Given the description of an element on the screen output the (x, y) to click on. 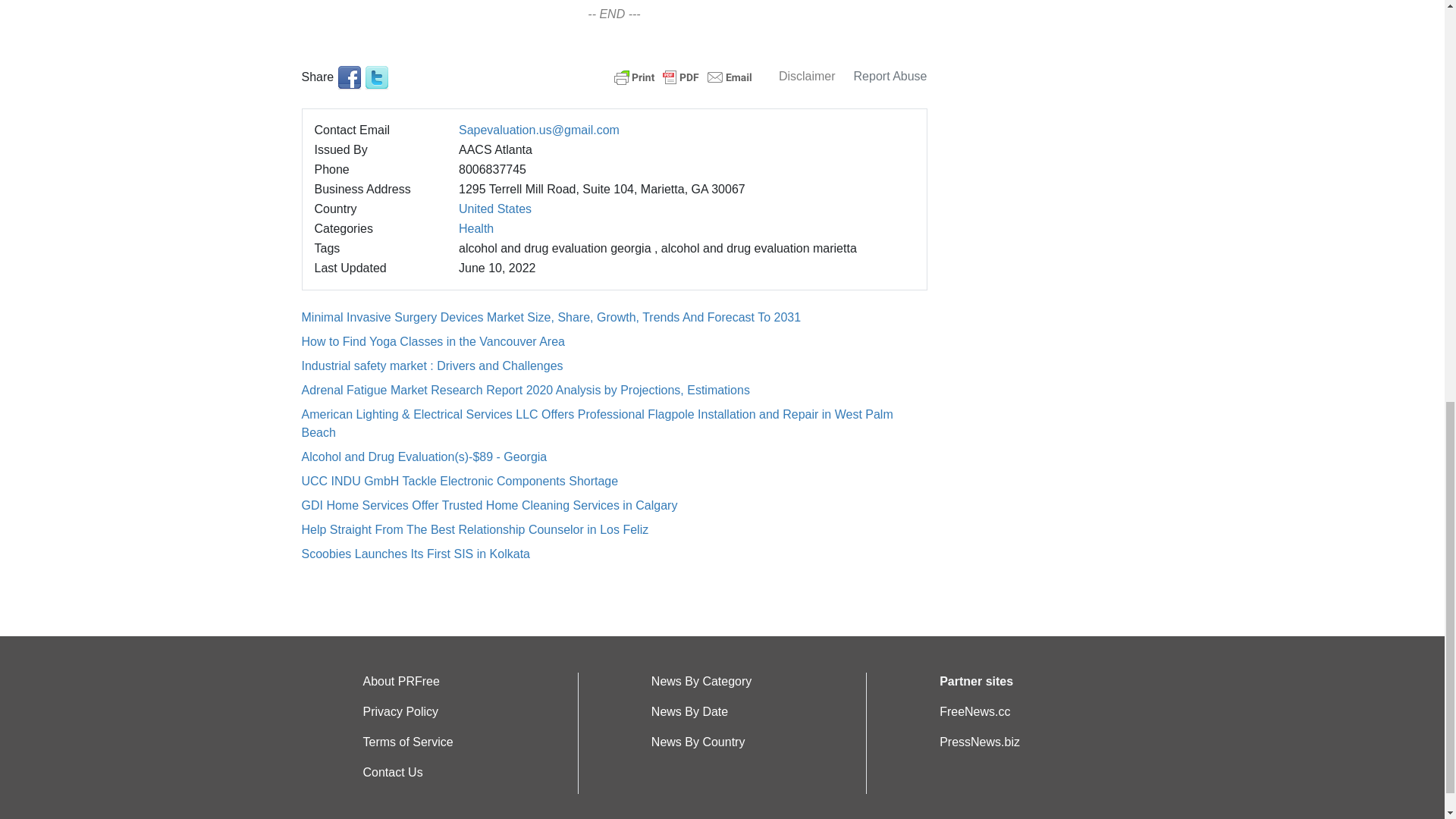
Printer Friendly and PDF (683, 75)
How to Find Yoga Classes in the Vancouver Area (432, 341)
Scoobies Launches Its First SIS in Kolkata (415, 553)
About PRFree (400, 680)
Disclaimer (806, 75)
Privacy Policy (400, 711)
Industrial safety market : Drivers and Challenges (432, 365)
Report Abuse (890, 75)
United States (494, 208)
Terms of Service (407, 741)
Contact Us (392, 771)
